Given the description of an element on the screen output the (x, y) to click on. 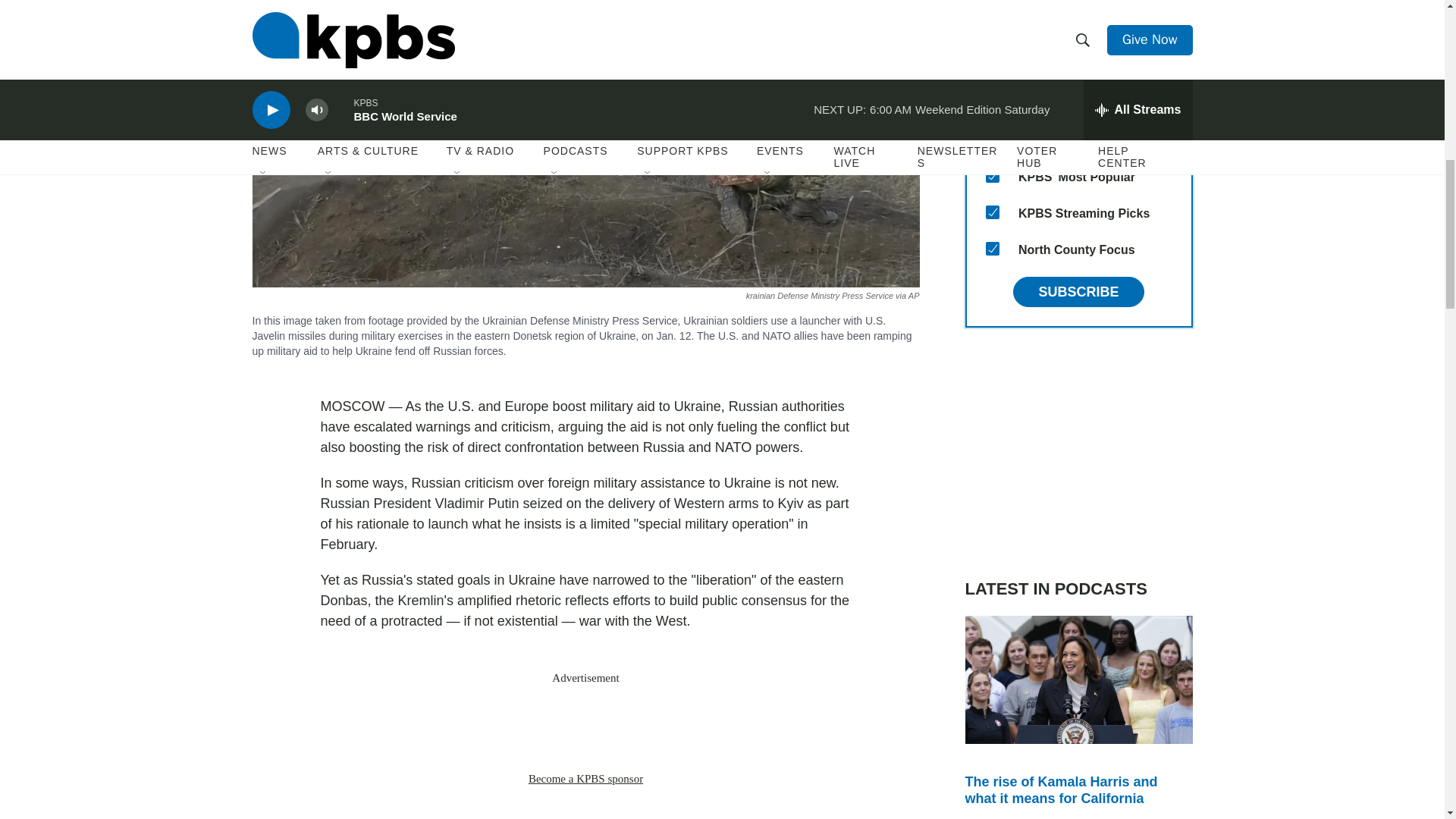
8 (991, 212)
4 (991, 29)
2 (991, 139)
3rd party ad content (584, 728)
1 (991, 175)
3rd party ad content (1077, 452)
15 (991, 248)
6 (991, 102)
5 (991, 66)
